Given the description of an element on the screen output the (x, y) to click on. 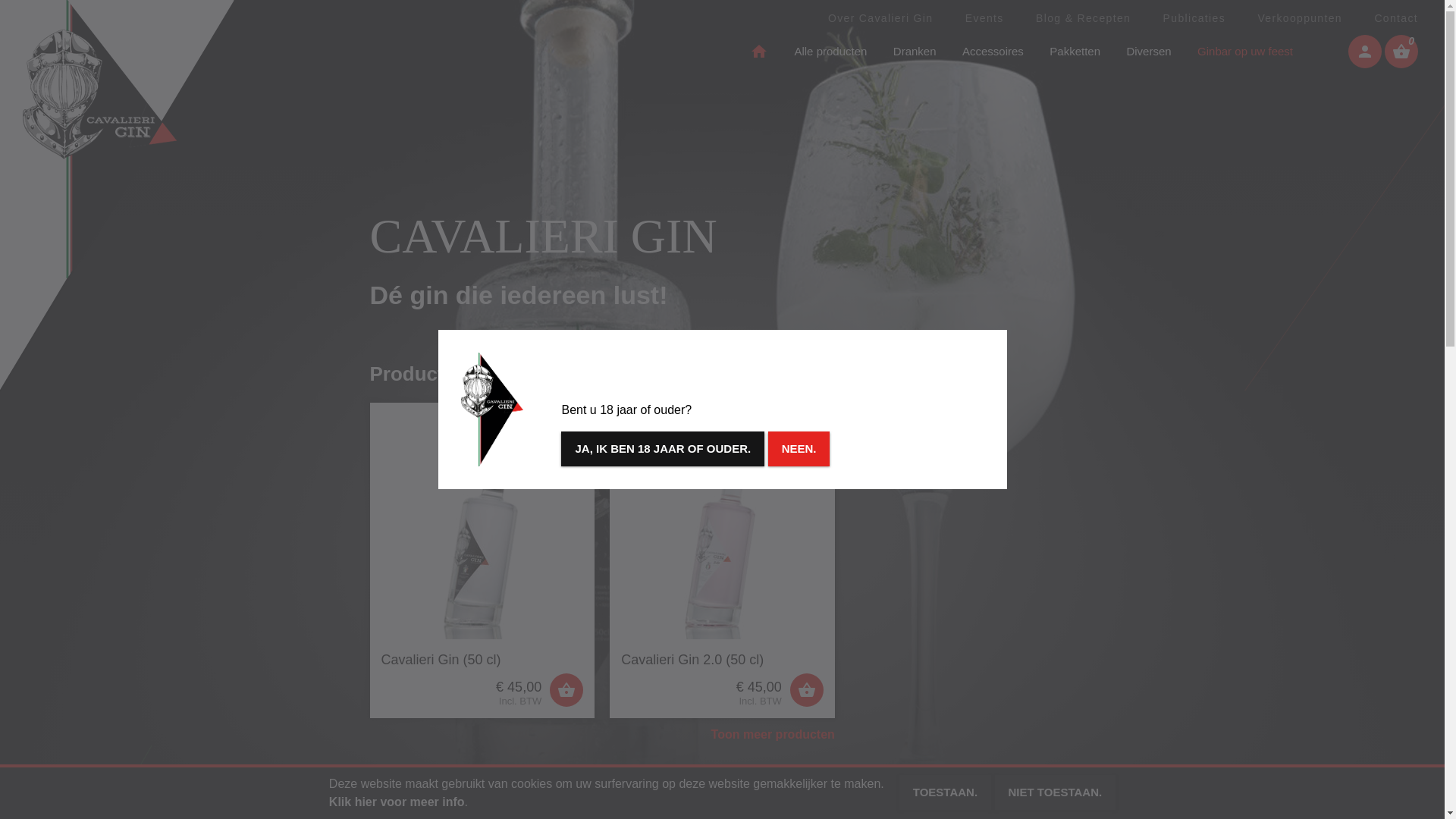
Alle producten Element type: text (829, 50)
Cavalieri Gin 2.0 (50 cl) Element type: text (722, 659)
Verkooppunten Element type: text (1299, 18)
Blog & Recepten Element type: text (1082, 18)
Events Element type: text (984, 18)
NIET TOESTAAN. Element type: text (1055, 792)
Publicaties Element type: text (1194, 18)
Over Cavalieri Gin Element type: text (880, 18)
Dranken Element type: text (914, 50)
Cavalieri Gin (50 cl) Element type: text (481, 659)
shopping_basket Element type: text (806, 689)
person Element type: text (1364, 51)
Diversen Element type: text (1148, 50)
shopping_basket
0 Element type: text (1401, 51)
home Element type: text (758, 50)
Toon meer producten Element type: text (772, 734)
TOESTAAN. Element type: text (945, 792)
Pakketten Element type: text (1074, 50)
shopping_basket Element type: text (566, 689)
Klik hier voor meer info Element type: text (396, 801)
JA, IK BEN 18 JAAR OF OUDER. Element type: text (662, 448)
NEEN. Element type: text (799, 448)
Contact Element type: text (1396, 18)
Accessoires Element type: text (992, 50)
Ginbar op uw feest Element type: text (1244, 50)
